Given the description of an element on the screen output the (x, y) to click on. 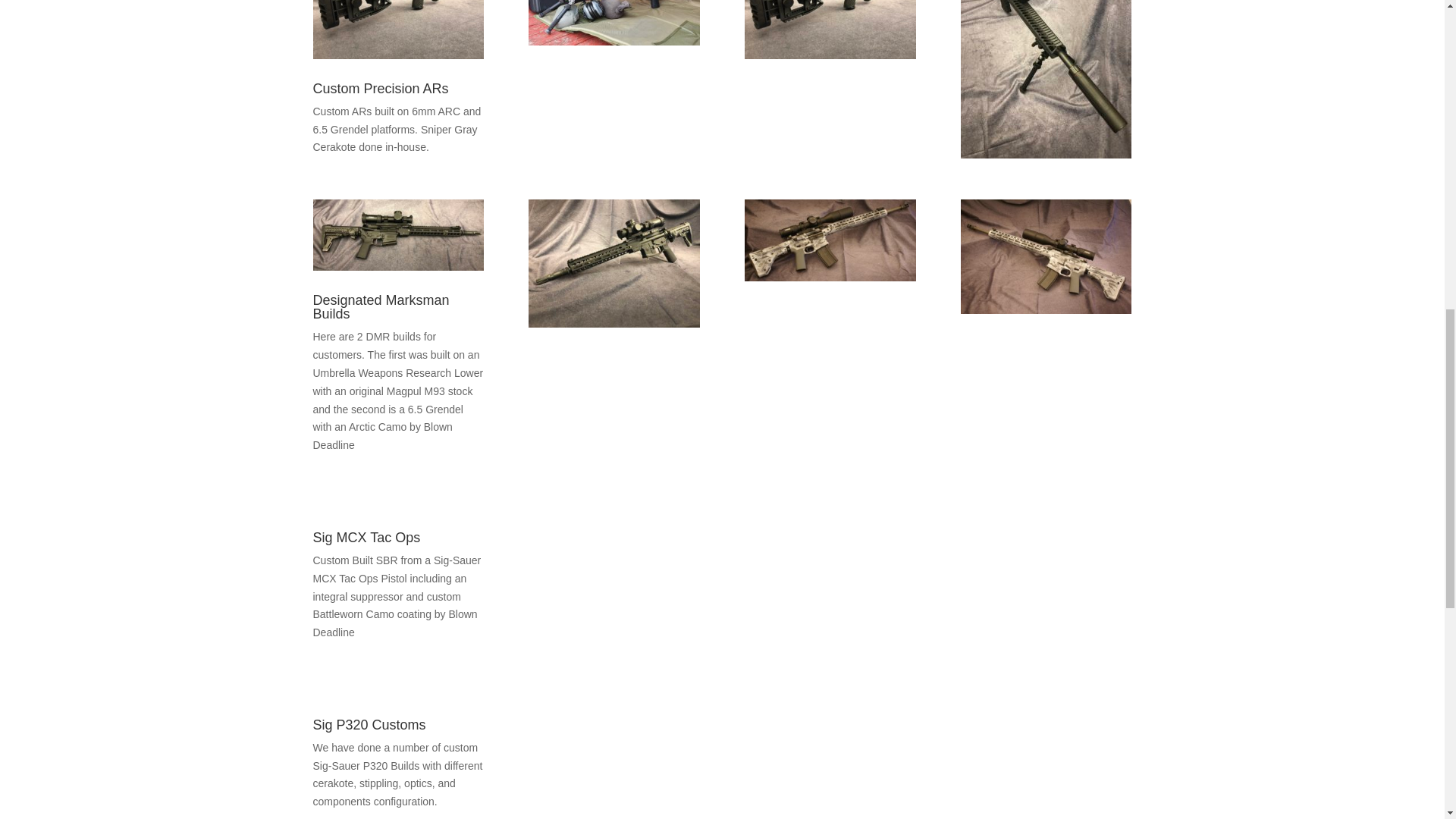
Arctic Warfare 6.5 Grendel (1045, 256)
Photo Aug 26, 16 24 43 (829, 29)
URC (613, 263)
Grendel DS 2 (1045, 79)
Arctic Warfare 6.5 Grendel (829, 240)
